Given the description of an element on the screen output the (x, y) to click on. 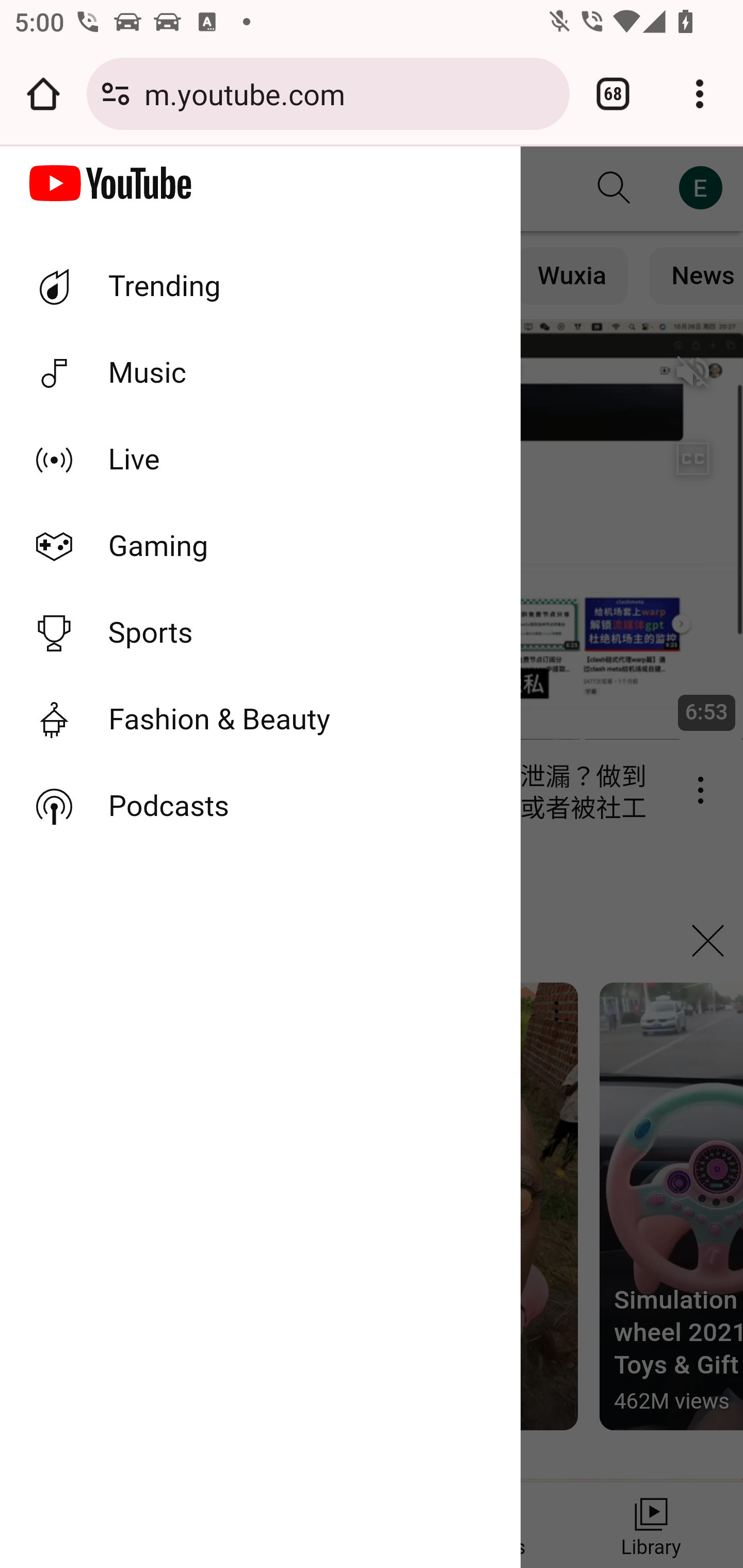
Open the home page (43, 93)
Connection is secure (115, 93)
Switch or close tabs (612, 93)
Customize and control Google Chrome (699, 93)
m.youtube.com (349, 92)
Trending (260, 285)
Music (260, 373)
Live (260, 459)
Gaming (260, 545)
Sports (260, 632)
Fashion & Beauty (260, 719)
Podcasts (260, 805)
